Given the description of an element on the screen output the (x, y) to click on. 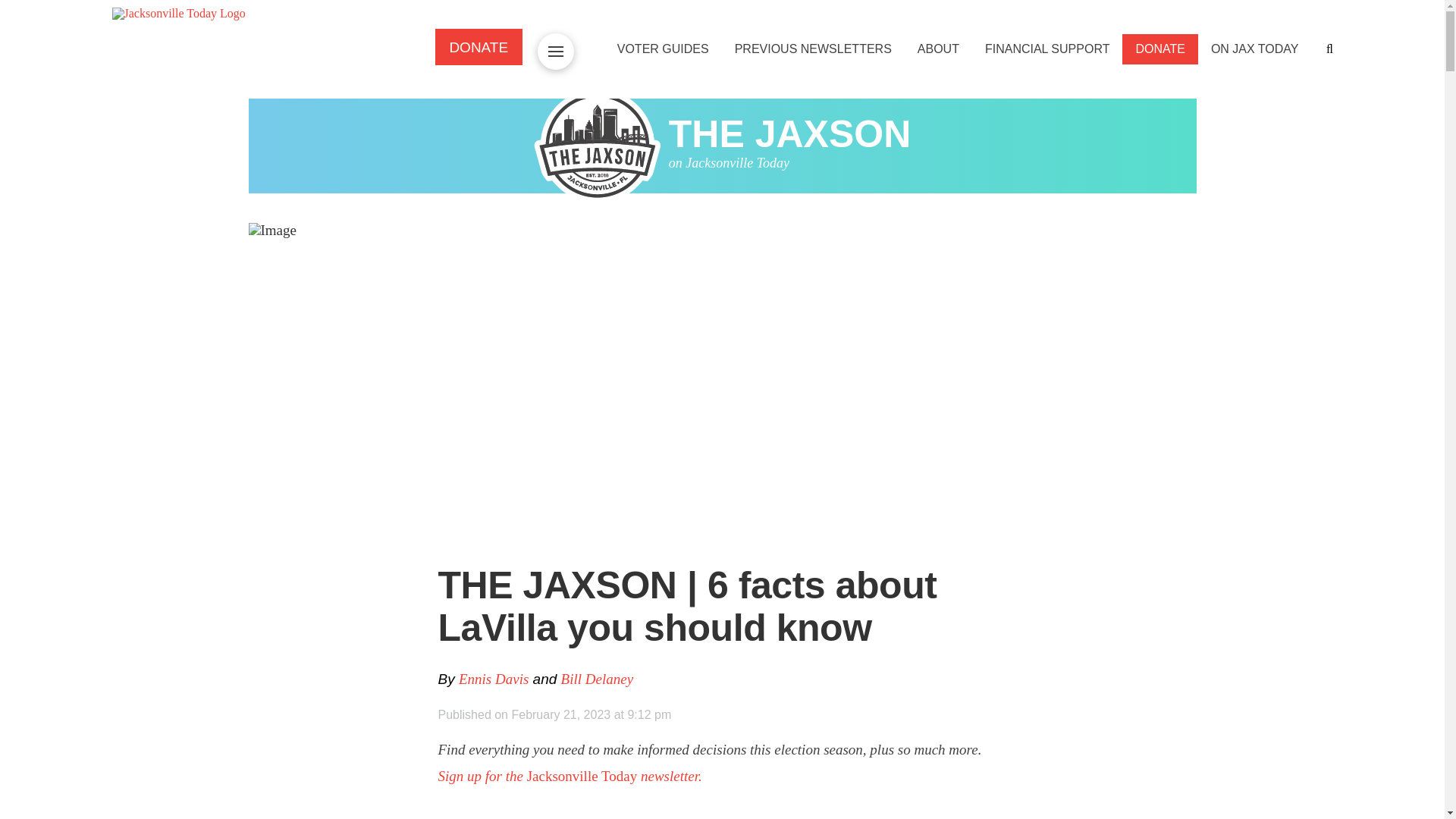
DONATE (478, 46)
ON JAX TODAY (1254, 49)
Sign up for the Jacksonville Today newsletter. (569, 775)
VOTER GUIDES (663, 49)
Ennis Davis (493, 678)
DONATE (1159, 49)
PREVIOUS NEWSLETTERS (813, 49)
FINANCIAL SUPPORT (1047, 49)
Bill Delaney (596, 678)
